Given the description of an element on the screen output the (x, y) to click on. 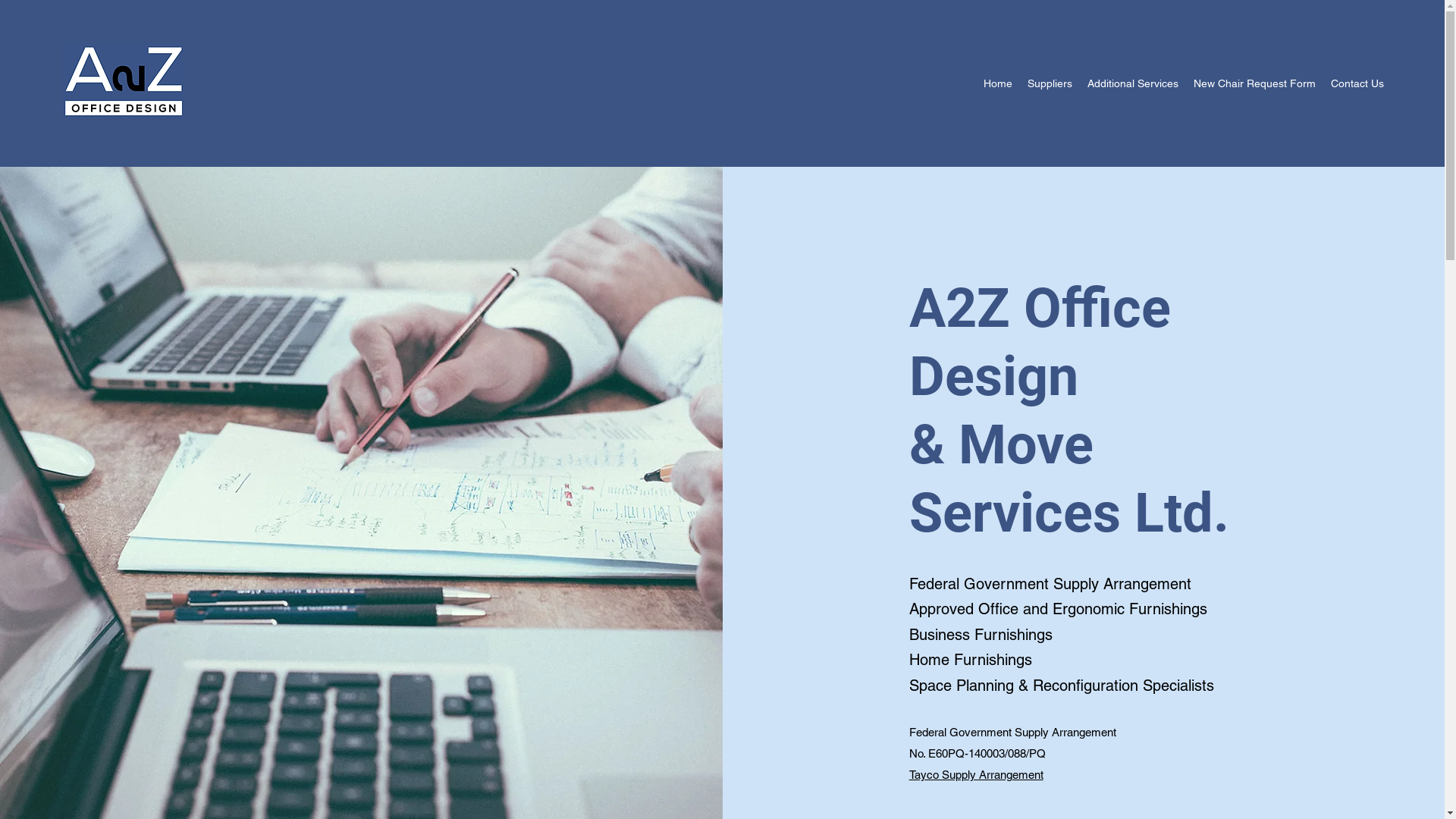
Home Element type: text (997, 83)
Suppliers Element type: text (1049, 83)
New Chair Request Form Element type: text (1254, 83)
Additional Services Element type: text (1132, 83)
Tayco Supply Arrangement Element type: text (976, 774)
Contact Us Element type: text (1357, 83)
